Given the description of an element on the screen output the (x, y) to click on. 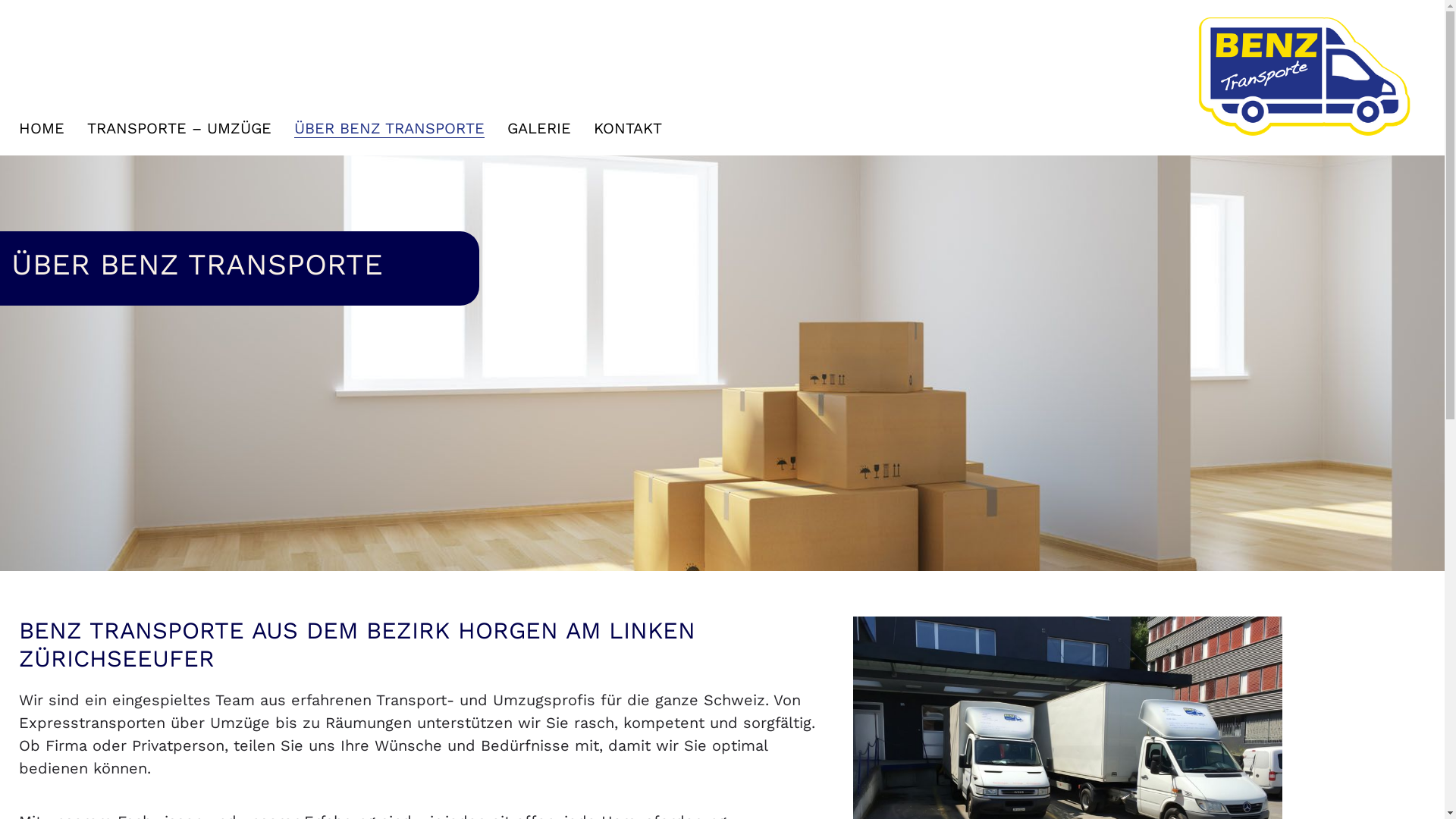
HOME Element type: text (41, 128)
KONTAKT Element type: text (627, 128)
GALERIE Element type: text (539, 128)
